Given the description of an element on the screen output the (x, y) to click on. 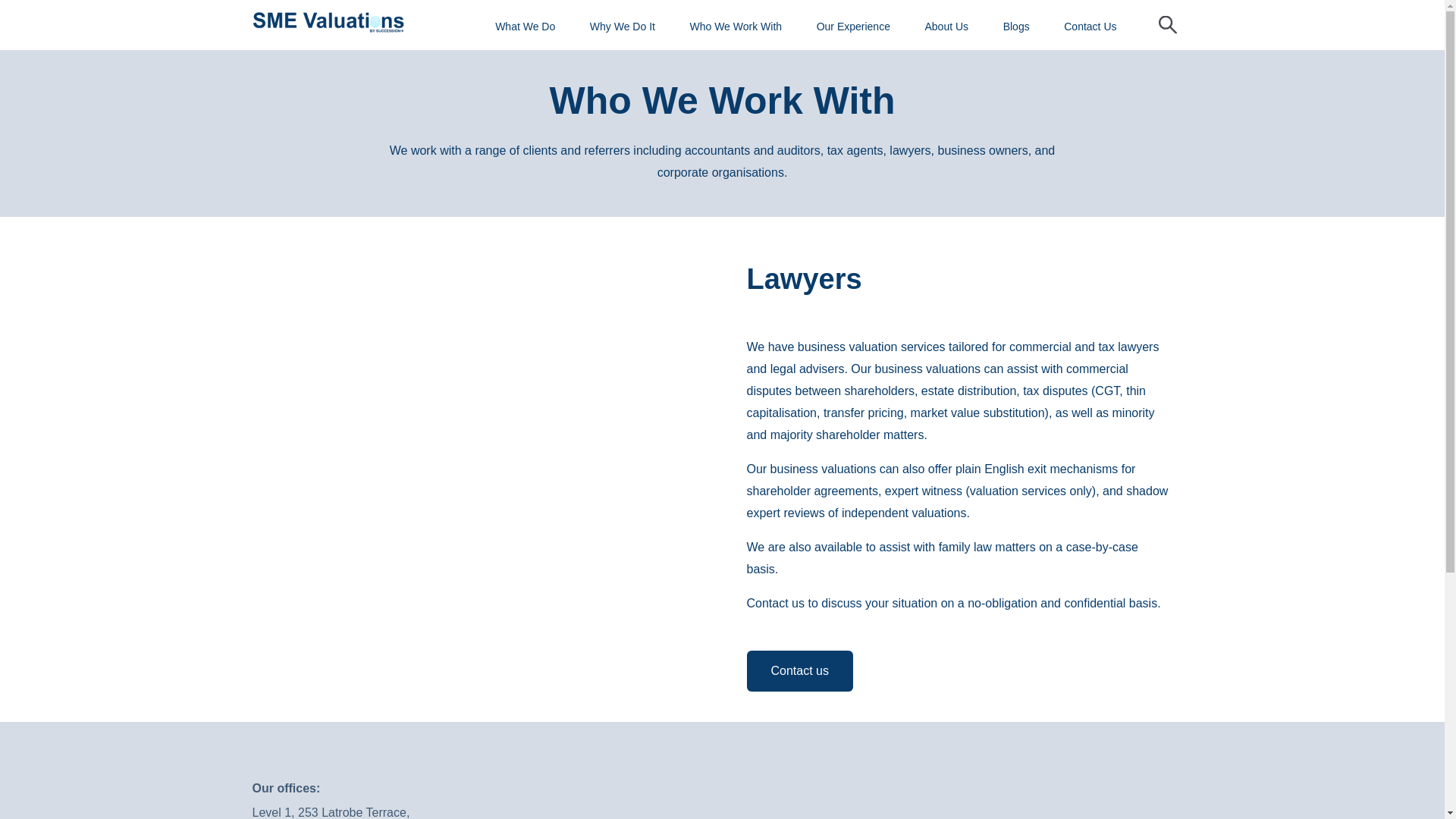
Our Experience (852, 26)
Blogs (536, 23)
What We Do (44, 23)
SME Valuations (327, 22)
Our Experience (373, 23)
Blogs (1016, 26)
What We Do (524, 26)
Contact Us (609, 23)
Contact us (798, 670)
Why We Do It (142, 23)
Contact Us (1090, 26)
About Us (465, 23)
Who We Work With (255, 23)
About Us (946, 26)
Why We Do It (622, 26)
